Given the description of an element on the screen output the (x, y) to click on. 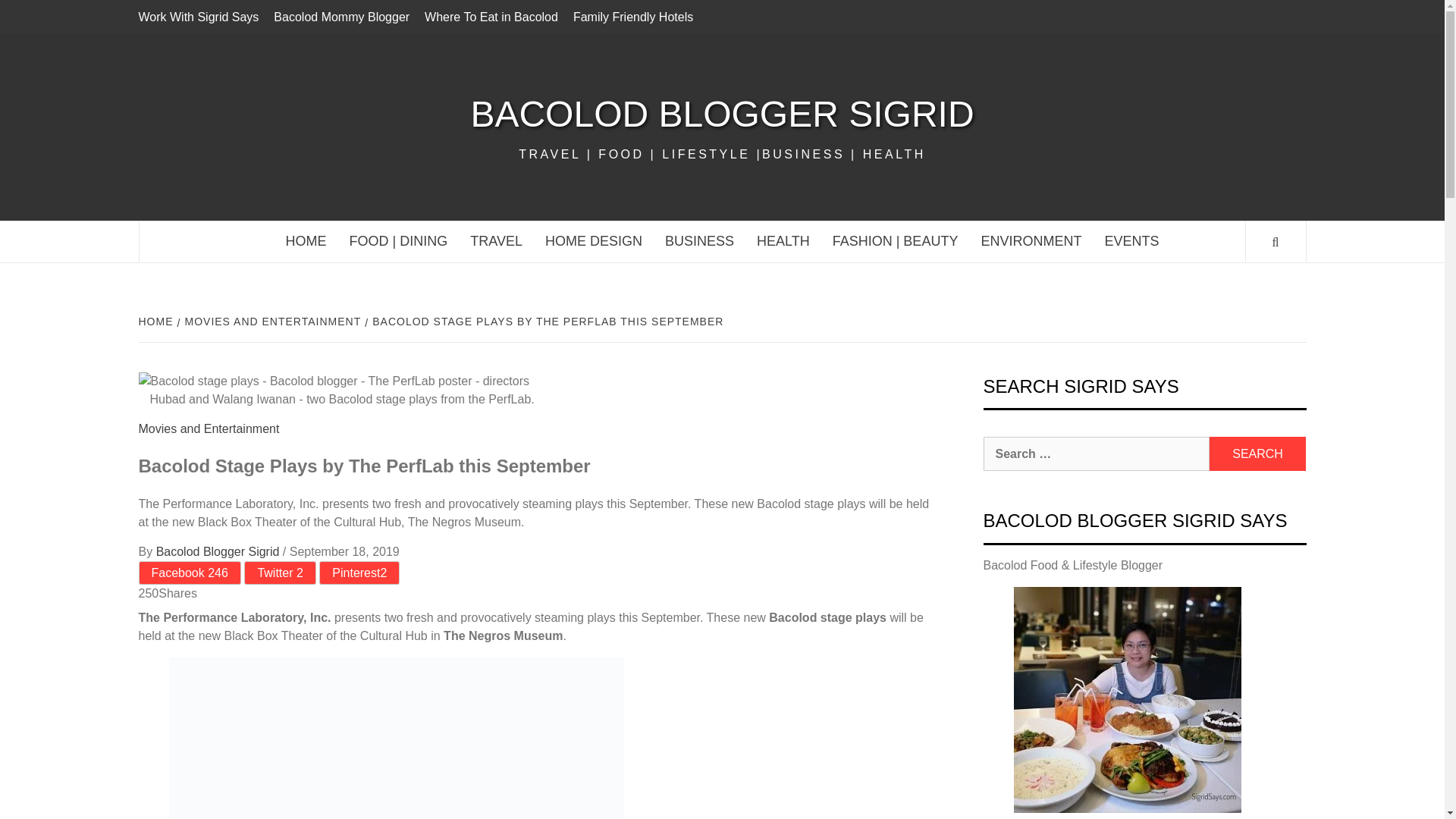
EVENTS (1131, 241)
Destinations and Travel Tips (496, 241)
Bacolod Blogger Sigrid (218, 551)
Movies and Entertainment (208, 428)
Family Friendly Hotels (633, 17)
BACOLOD STAGE PLAYS BY THE PERFLAB THIS SEPTEMBER (545, 321)
Pinterest2 (358, 572)
List of Bacolod restaurants (491, 17)
HOME (157, 321)
Where To Eat in Bacolod (491, 17)
Facebook 246 (189, 572)
TRAVEL (496, 241)
Search (1257, 453)
HOME DESIGN (593, 241)
Bacolod Restaurants (398, 241)
